Given the description of an element on the screen output the (x, y) to click on. 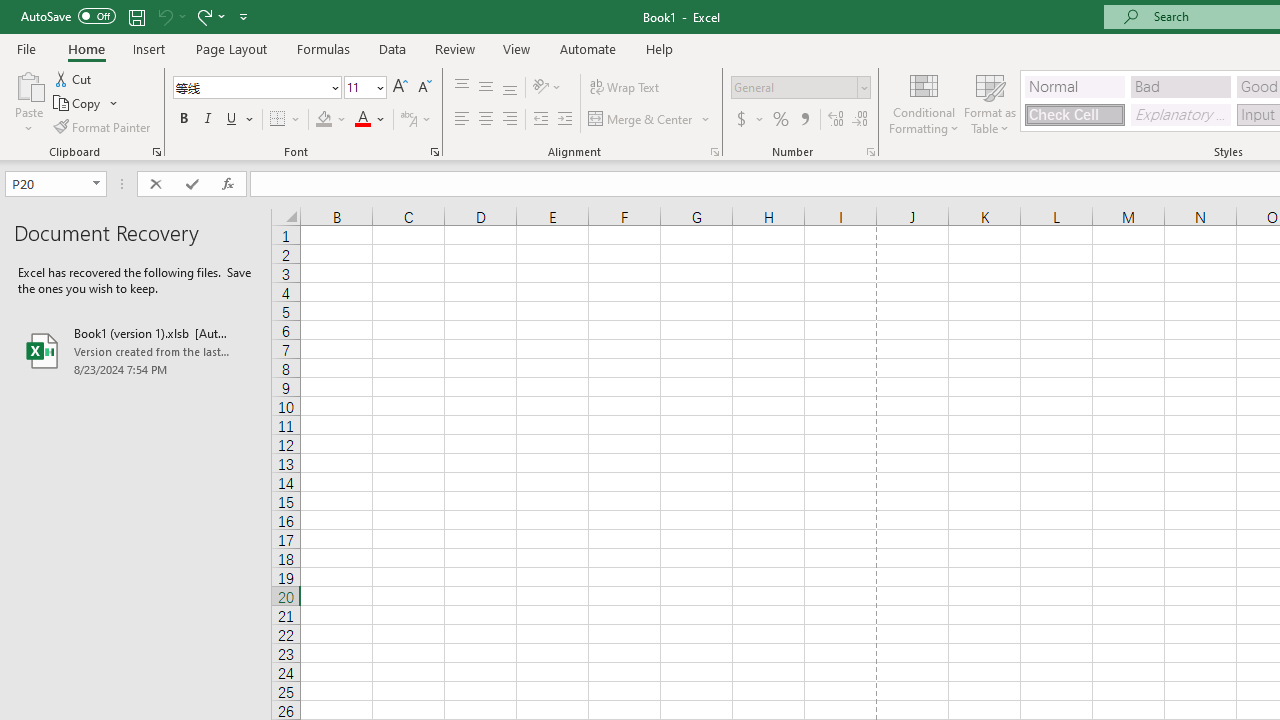
Merge & Center (649, 119)
Wrap Text (624, 87)
Percent Style (781, 119)
Show Phonetic Field (408, 119)
Font Size (365, 87)
Top Align (461, 87)
Merge & Center (641, 119)
Font (250, 87)
Format Painter (103, 126)
Conditional Formatting (924, 102)
Middle Align (485, 87)
